Given the description of an element on the screen output the (x, y) to click on. 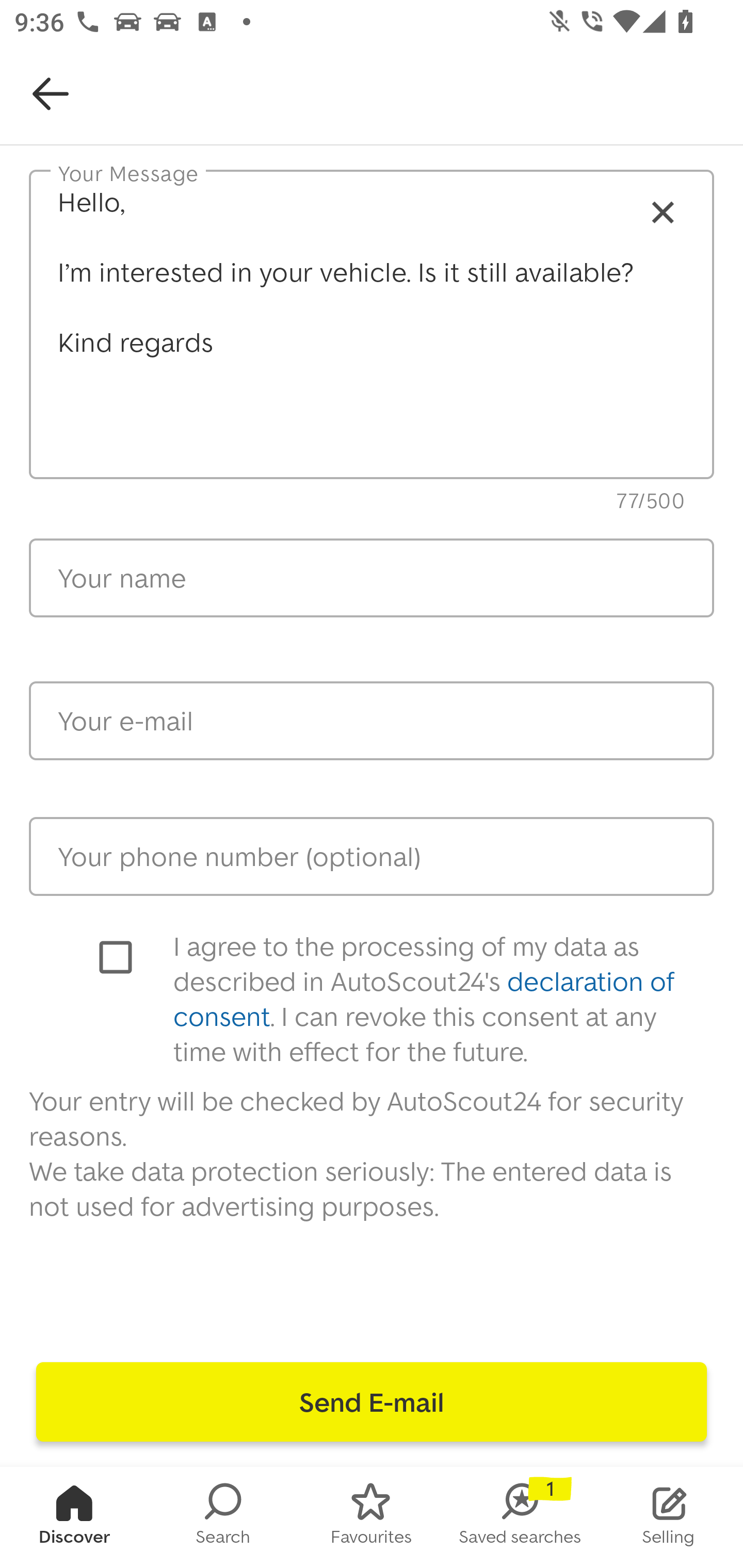
Navigate up (50, 93)
Your name (371, 577)
Your e-mail (371, 721)
Your phone number (optional) (371, 855)
Send E-mail (371, 1401)
HOMESCREEN Discover (74, 1517)
SEARCH Search (222, 1517)
FAVORITES Favourites (371, 1517)
SAVED_SEARCHES Saved searches 1 (519, 1517)
STOCK_LIST Selling (668, 1517)
